Given the description of an element on the screen output the (x, y) to click on. 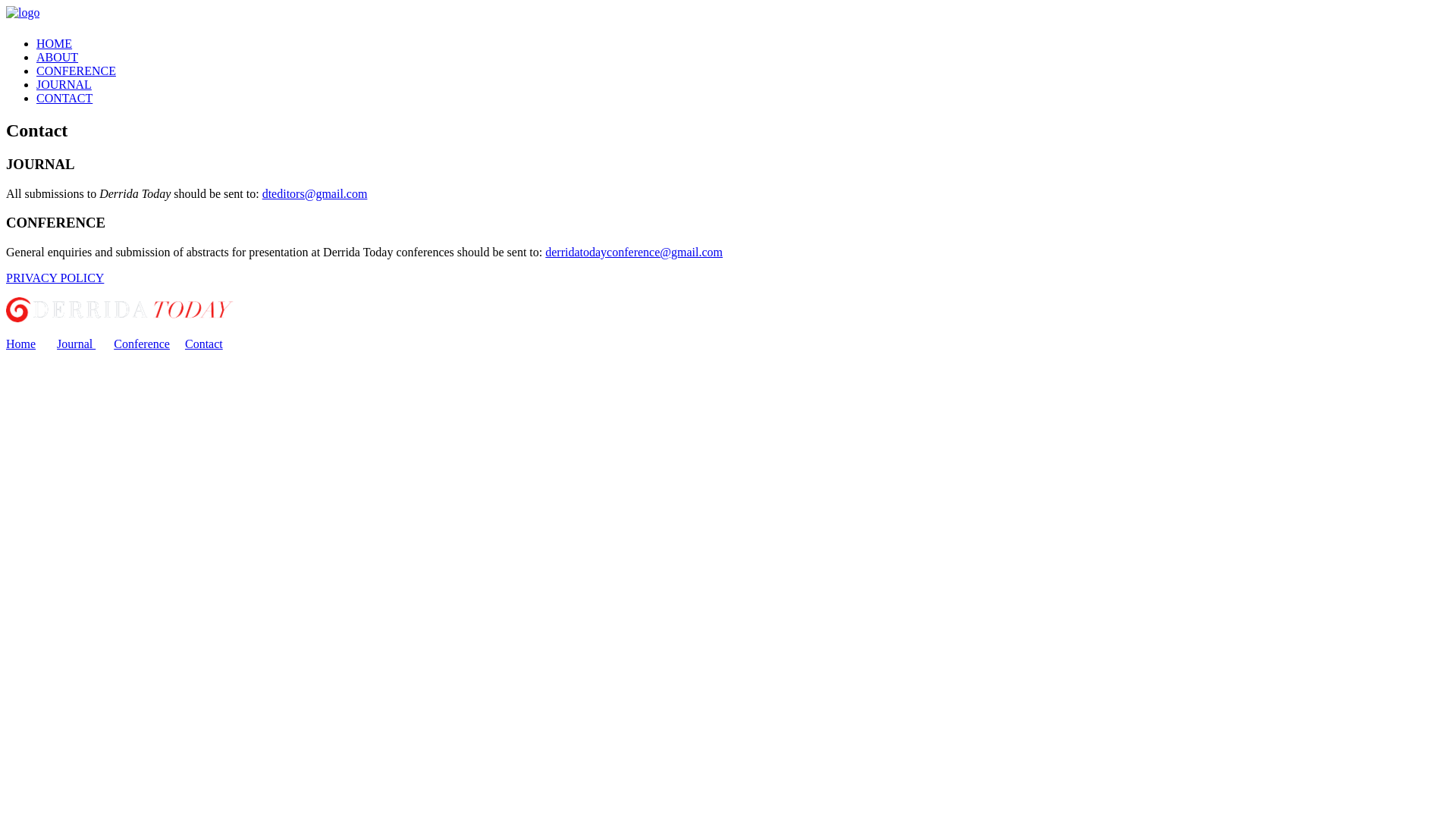
Conference Element type: text (141, 343)
HOME Element type: text (54, 43)
derridatodayconference@gmail.com Element type: text (633, 251)
Journal Element type: text (75, 343)
ABOUT Element type: text (57, 56)
Home Element type: text (20, 343)
CONTACT Element type: text (64, 97)
JOURNAL Element type: text (63, 84)
CONFERENCE Element type: text (76, 70)
PRIVACY POLICY Element type: text (54, 277)
Contact Element type: text (203, 343)
dteditors@gmail.com Element type: text (314, 193)
